Given the description of an element on the screen output the (x, y) to click on. 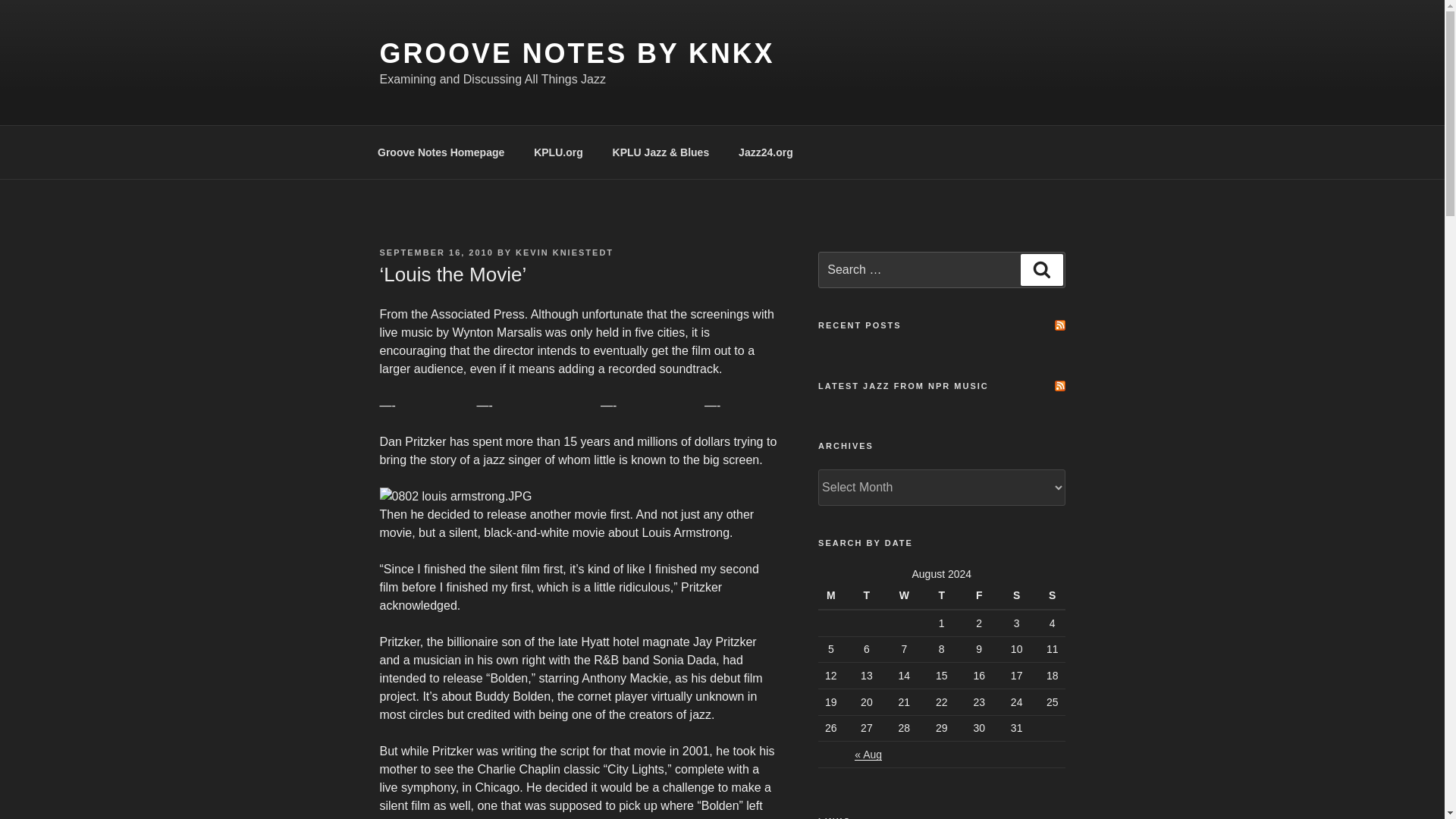
RECENT POSTS (859, 325)
SEPTEMBER 16, 2010 (435, 252)
Friday (978, 595)
Groove Notes Homepage (440, 151)
GROOVE NOTES BY KNKX (576, 52)
Wednesday (904, 595)
Search (1041, 269)
Monday (832, 595)
Jazz24.org (765, 151)
LATEST JAZZ FROM NPR MUSIC (903, 385)
